Given the description of an element on the screen output the (x, y) to click on. 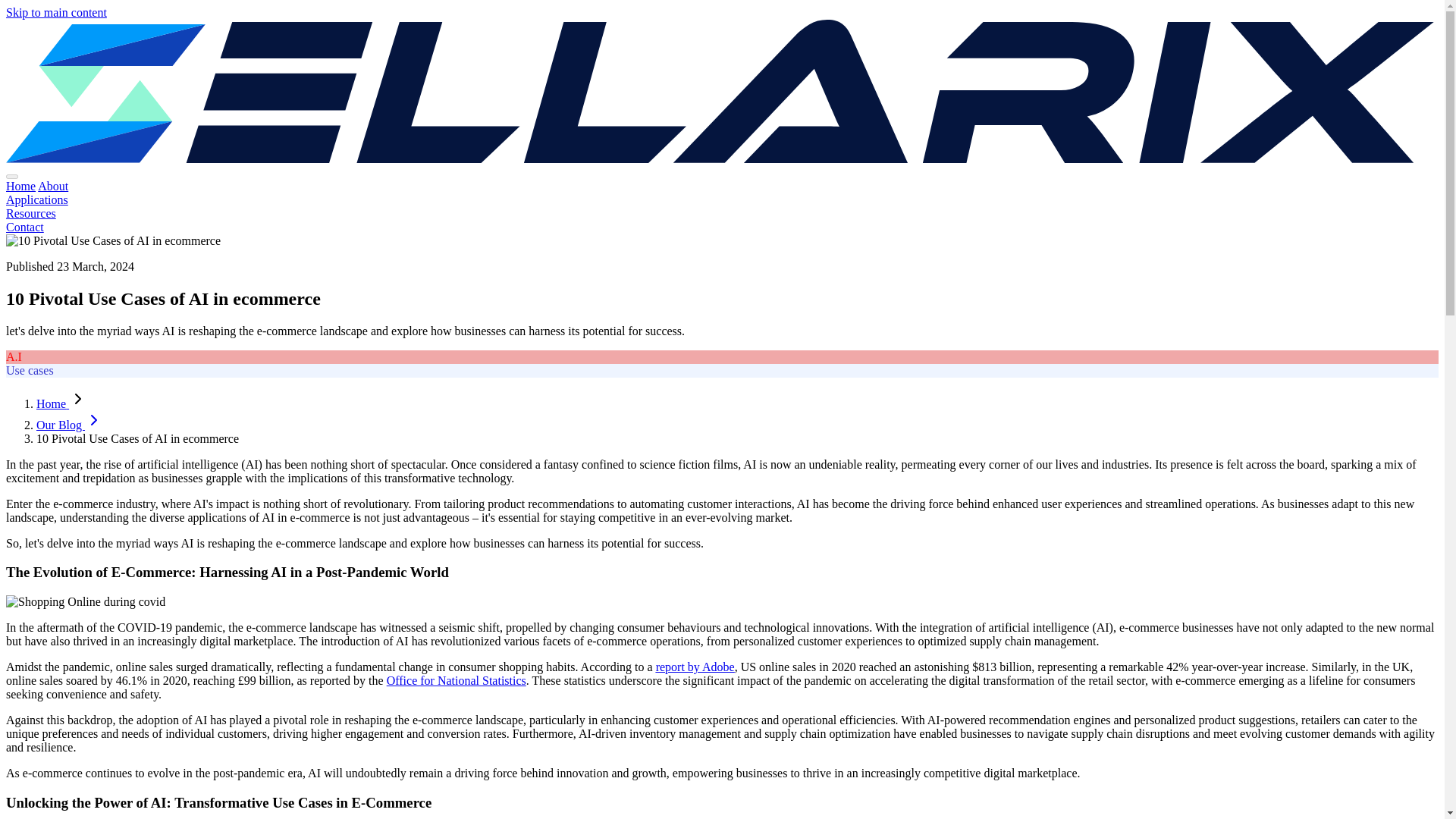
report by Adobe (695, 666)
Applications (36, 199)
Sellarix - Home (19, 185)
Contact (24, 226)
Office for National Statistics (456, 680)
Our Blog (69, 424)
Resources (30, 213)
Skip to main content (55, 11)
About (52, 185)
Home (19, 185)
Home (52, 403)
Sellarix - About Us (52, 185)
